Given the description of an element on the screen output the (x, y) to click on. 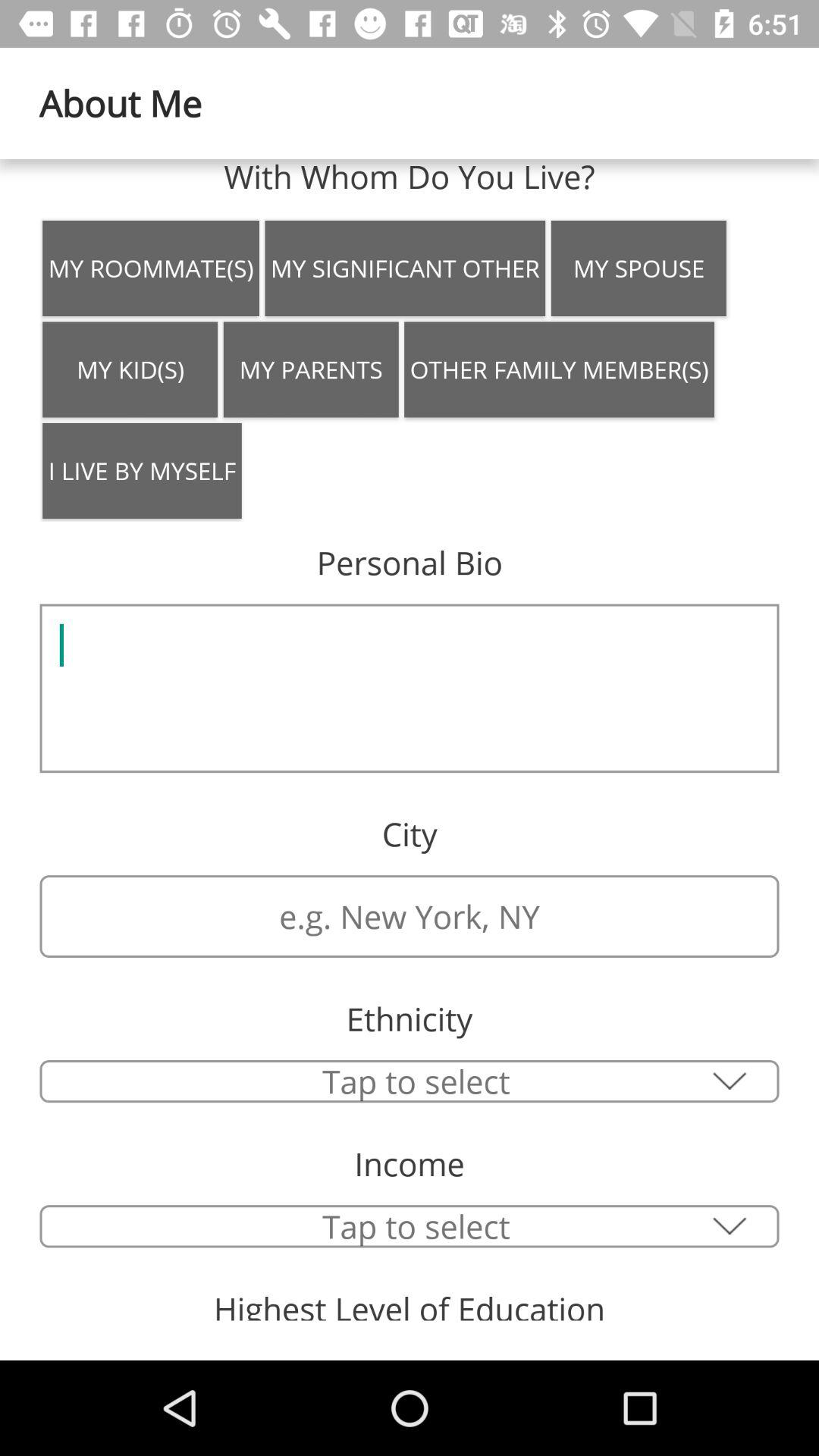
tap the icon to the right of my significant other item (638, 268)
